Given the description of an element on the screen output the (x, y) to click on. 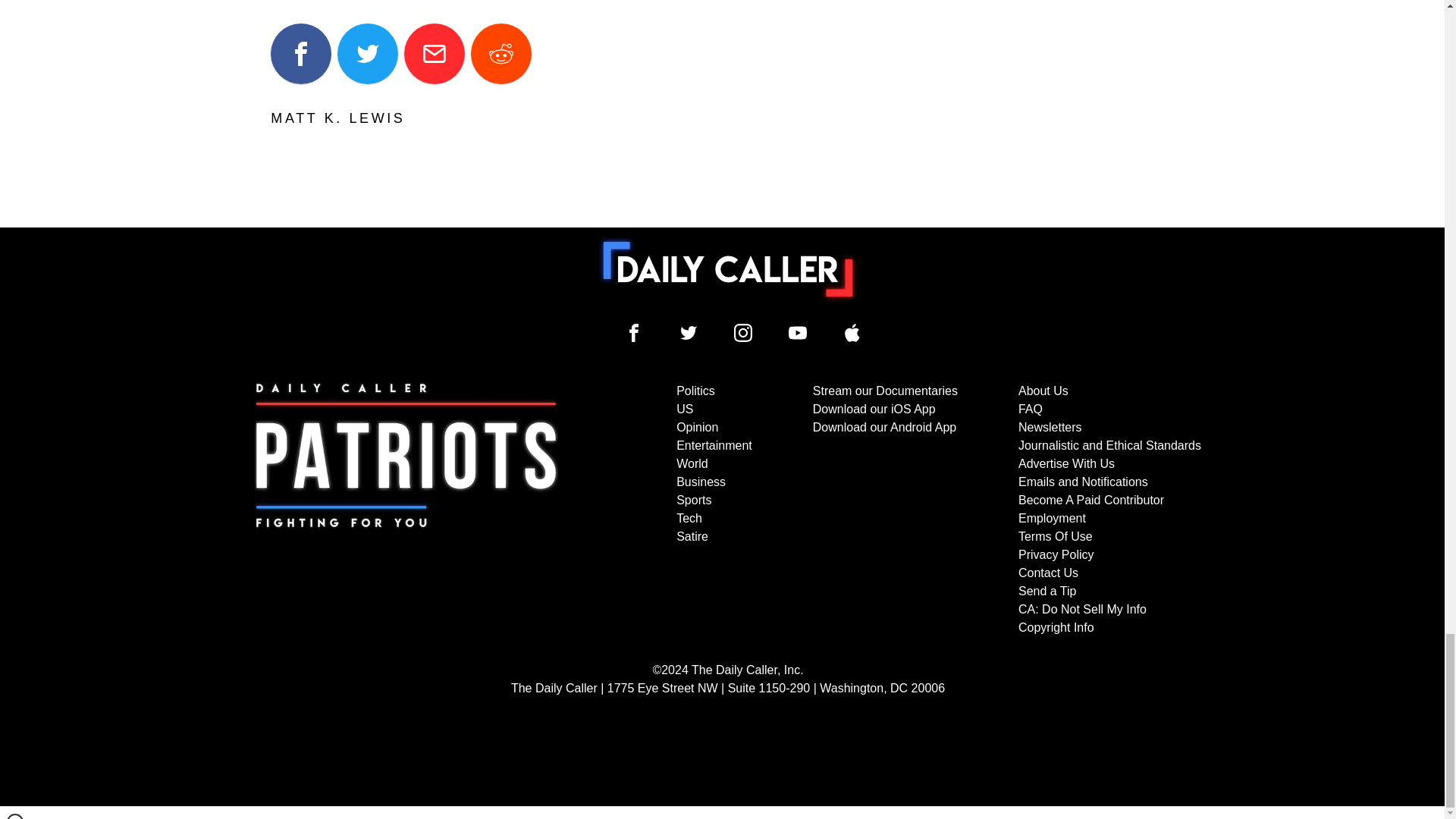
Daily Caller YouTube (852, 332)
Daily Caller Twitter (688, 332)
Daily Caller Facebook (633, 332)
Subscribe to The Daily Caller (405, 509)
To home page (727, 268)
Daily Caller Instagram (742, 332)
Daily Caller YouTube (797, 332)
